Given the description of an element on the screen output the (x, y) to click on. 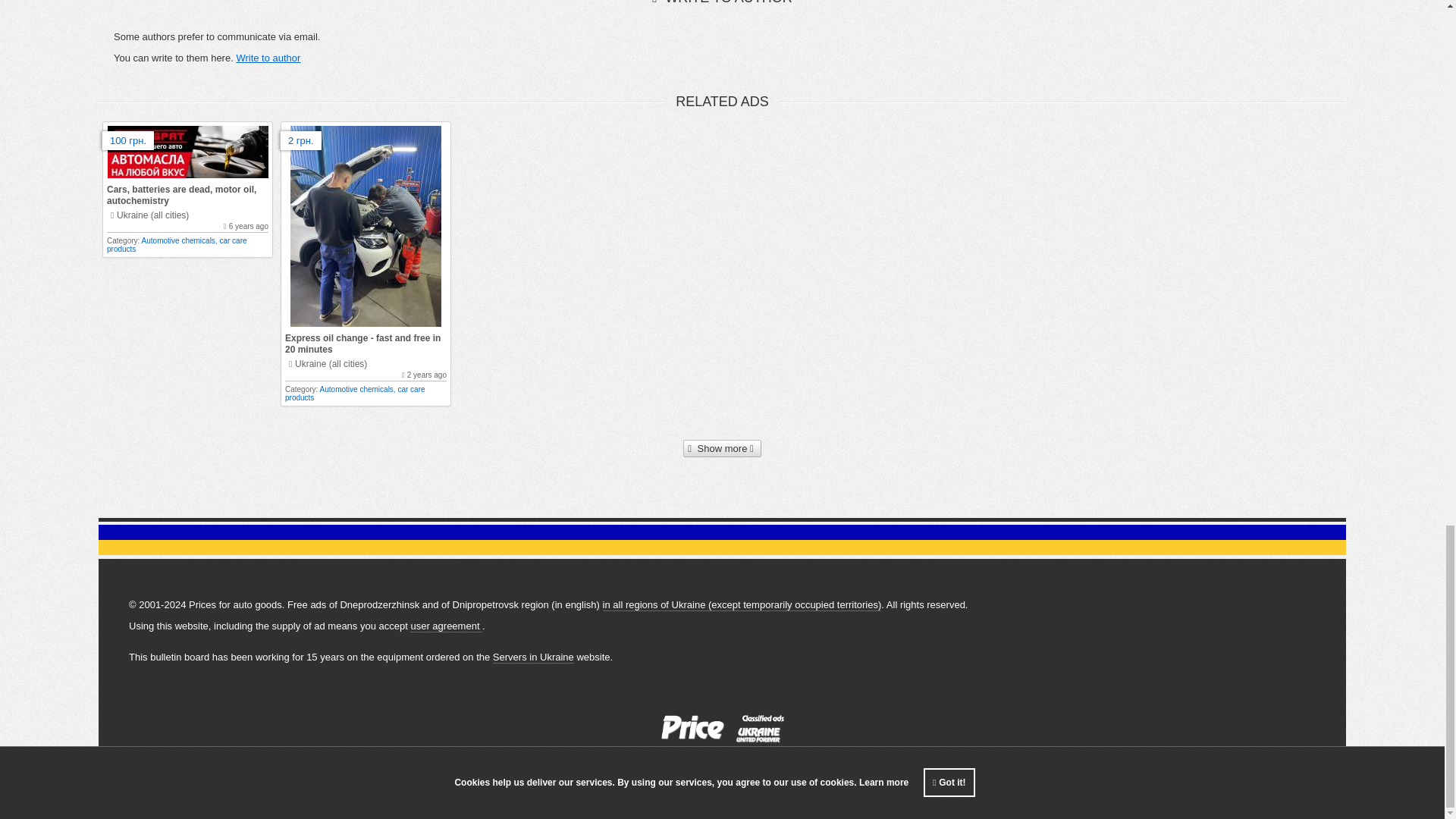
Show more (721, 448)
user agreement (445, 625)
Write to author (267, 57)
Servers in Ukraine (533, 657)
Franchise (604, 783)
Express oil change - fast and free in 20 minutes (363, 343)
Cars, batteries are dead, motor oil, autochemistry (181, 195)
Automotive chemicals, car care products (176, 244)
Service agreement (531, 783)
Automotive chemicals, car care products (355, 393)
